Given the description of an element on the screen output the (x, y) to click on. 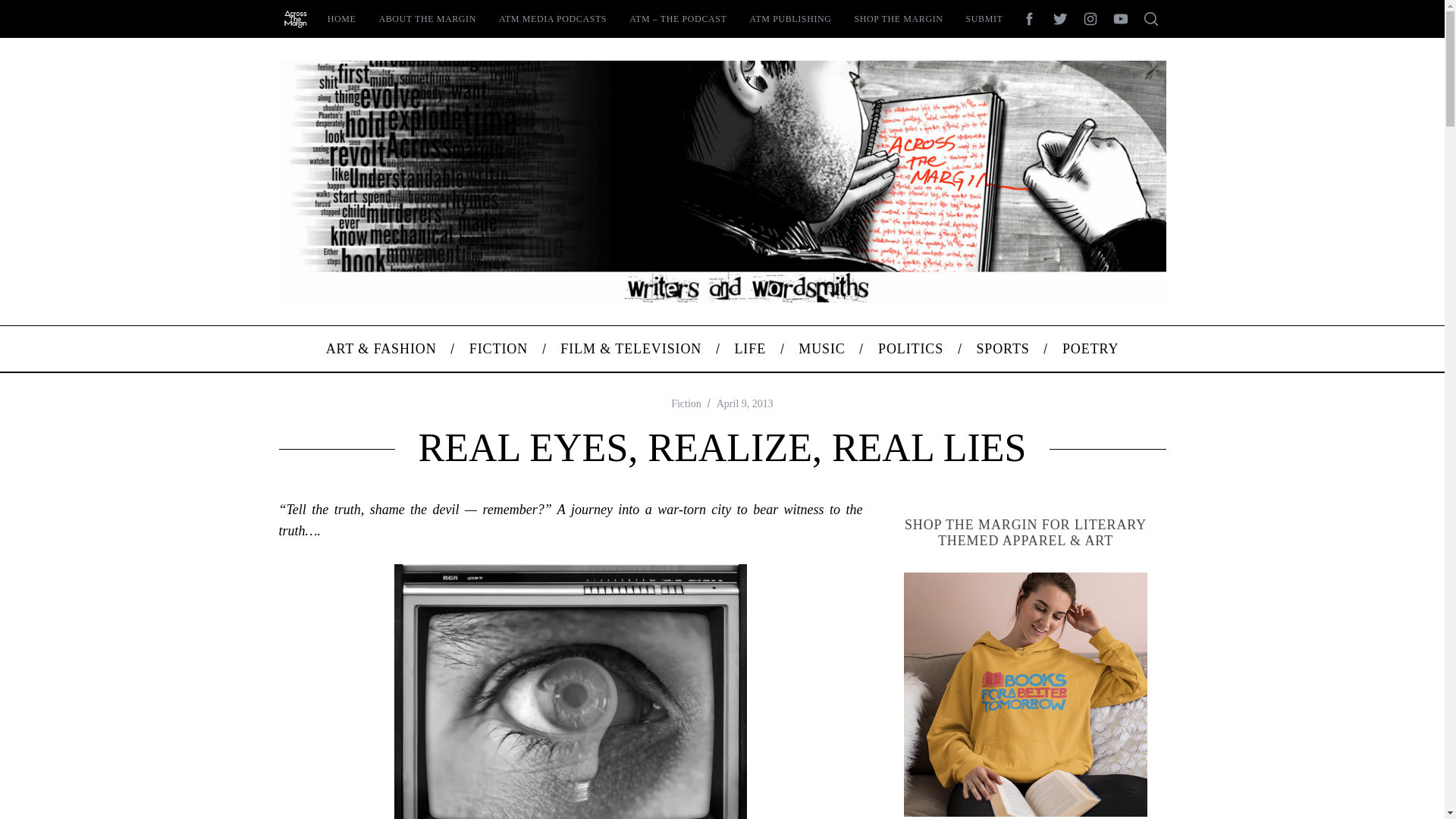
SPORTS (1002, 348)
ATM MEDIA PODCASTS (552, 18)
POETRY (1090, 348)
POLITICS (910, 348)
ABOUT THE MARGIN (426, 18)
HOME (341, 18)
LIFE (750, 348)
Fiction (686, 403)
FICTION (498, 348)
SHOP THE MARGIN! (1026, 694)
